Given the description of an element on the screen output the (x, y) to click on. 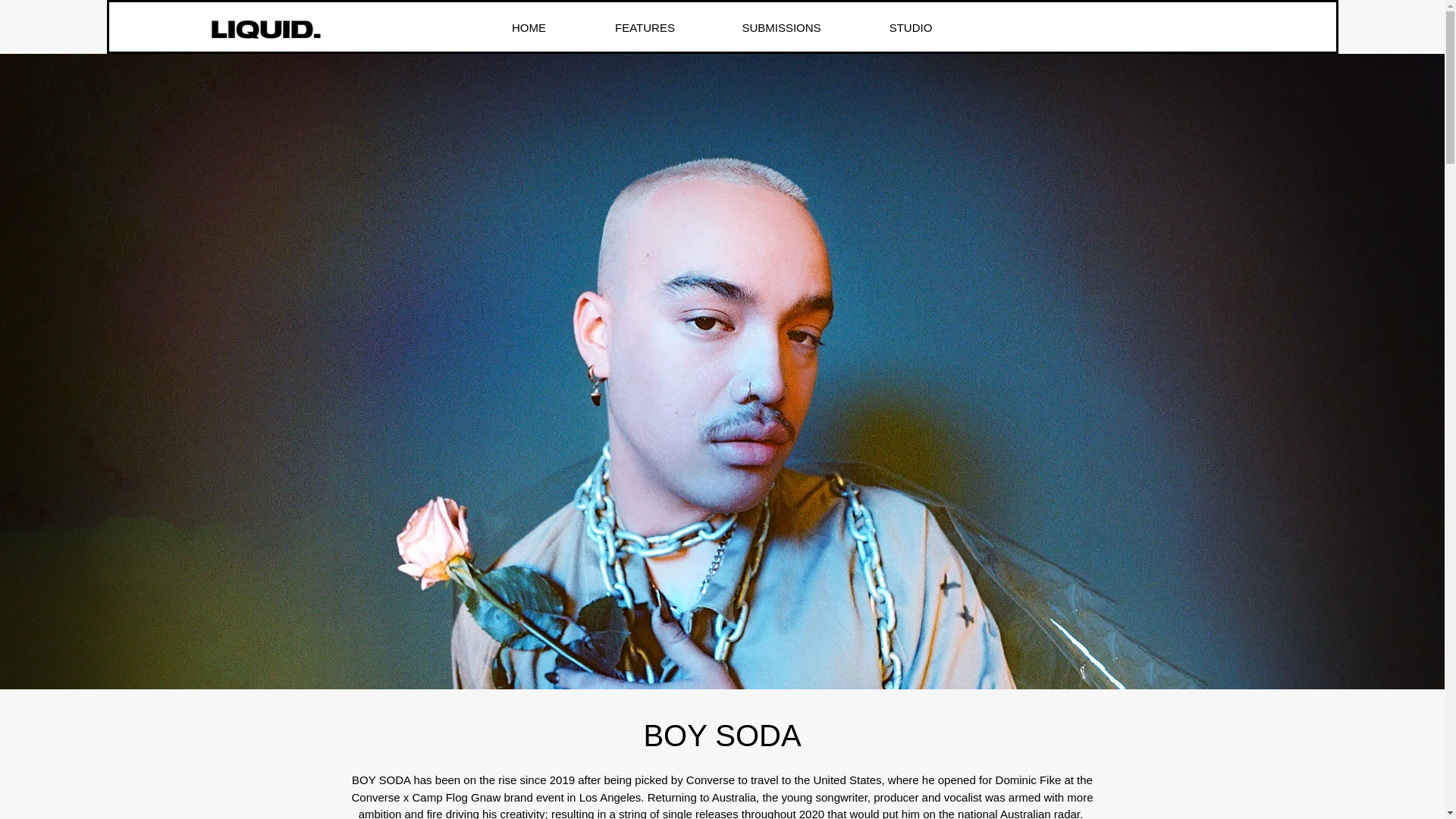
STUDIO (909, 26)
SUBMISSIONS (780, 26)
FEATURES (643, 26)
HOME (528, 26)
